Given the description of an element on the screen output the (x, y) to click on. 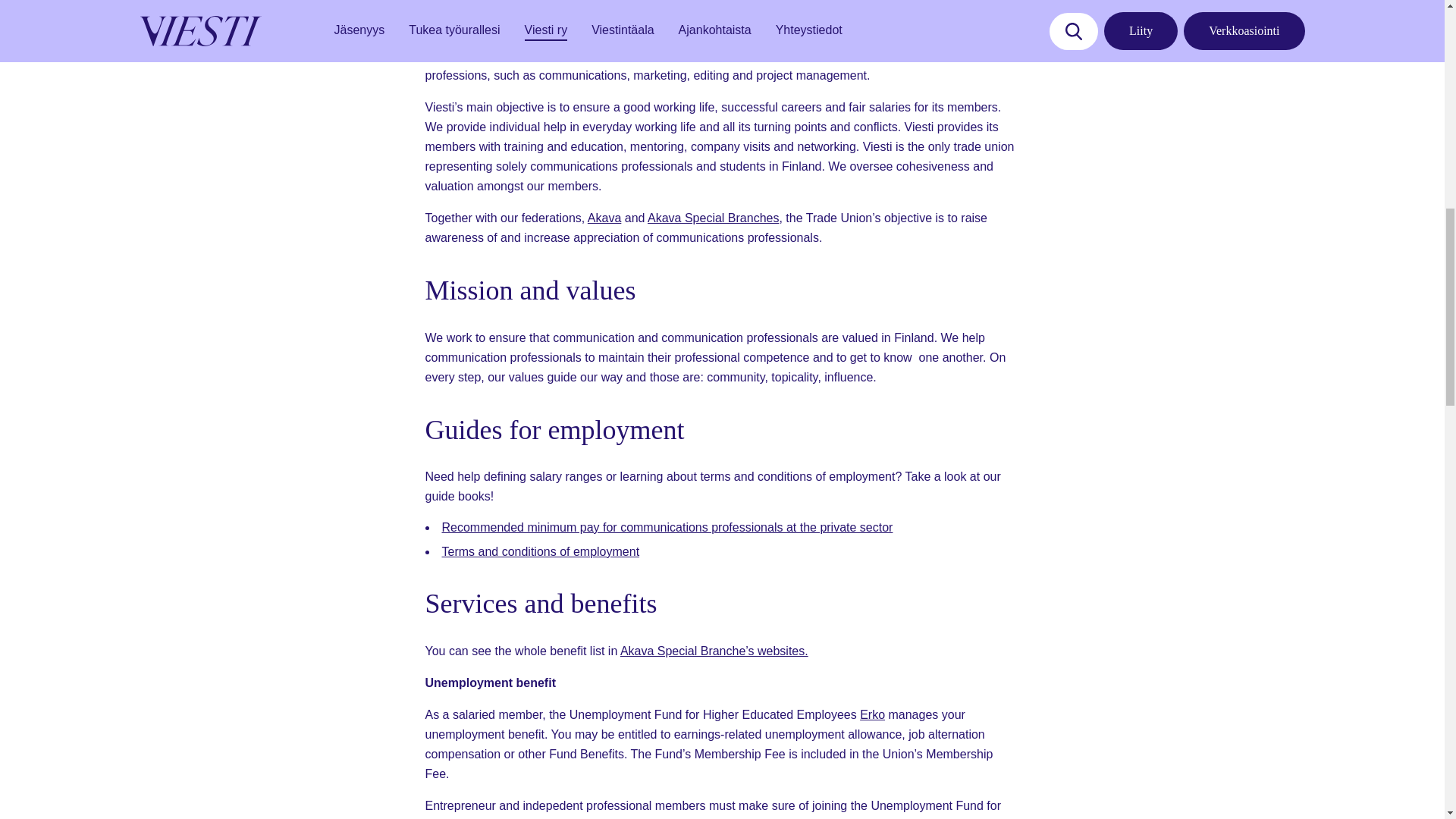
Akava Special Branches (712, 217)
Terms and conditions of employment (540, 551)
Erko (872, 714)
Akava (604, 217)
